Given the description of an element on the screen output the (x, y) to click on. 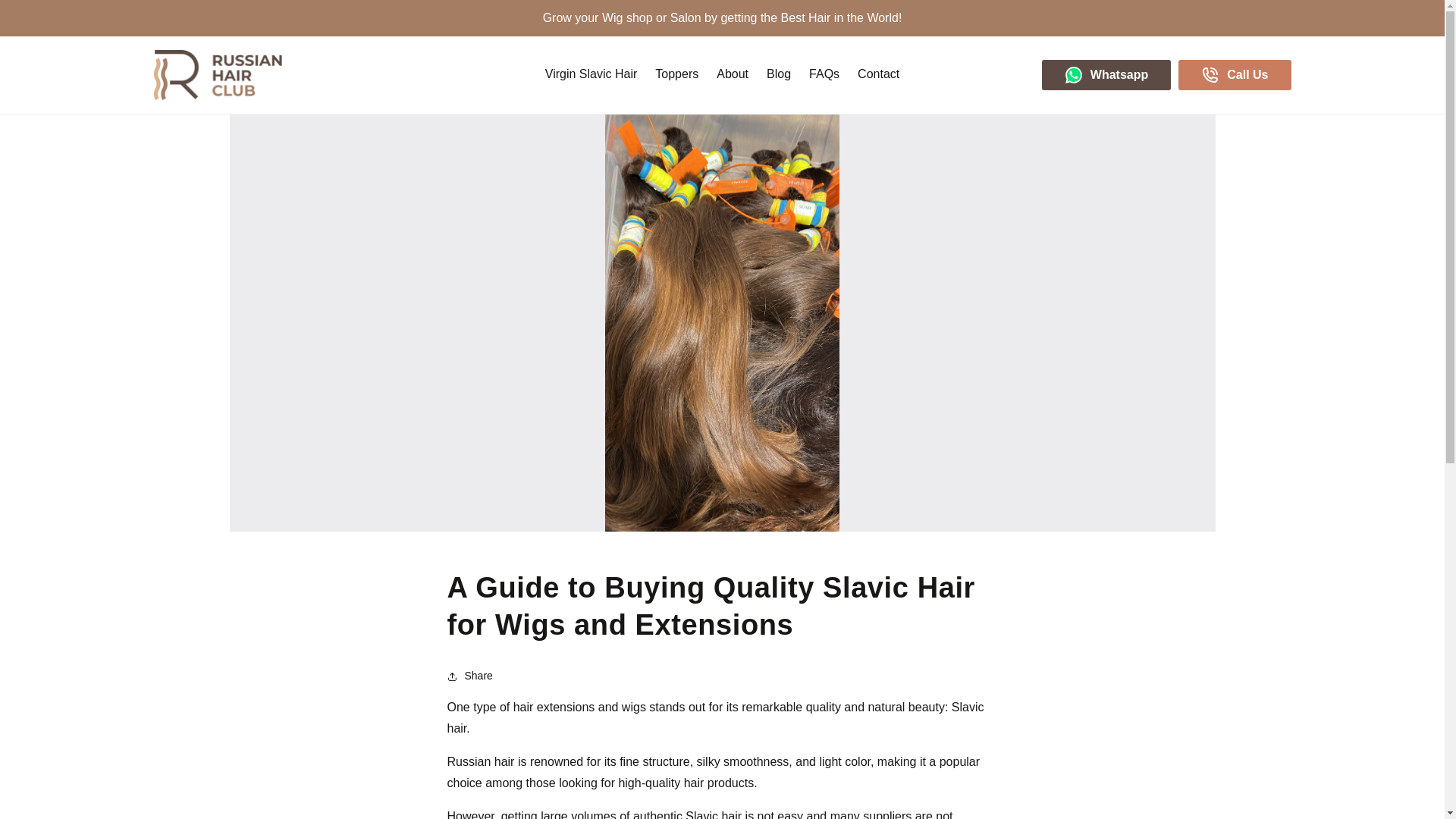
Virgin Slavic Hair (590, 74)
Blog (778, 74)
Call Us (1233, 74)
Contact (878, 74)
Toppers (676, 74)
About (732, 74)
Skip to content (49, 14)
Whatsapp (1106, 74)
FAQs (823, 74)
